Given the description of an element on the screen output the (x, y) to click on. 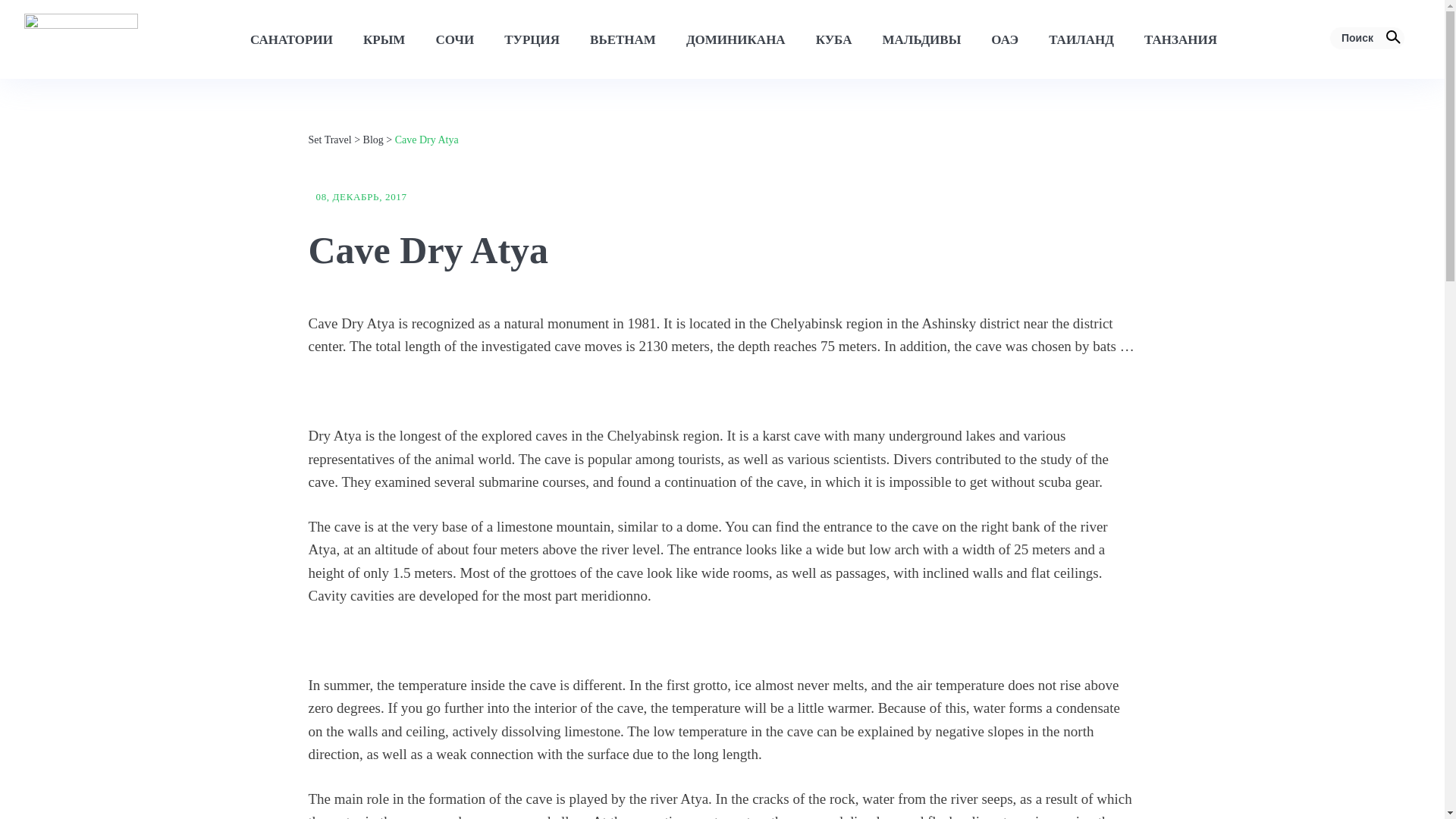
Blog (373, 139)
Set Travel (328, 139)
